Given the description of an element on the screen output the (x, y) to click on. 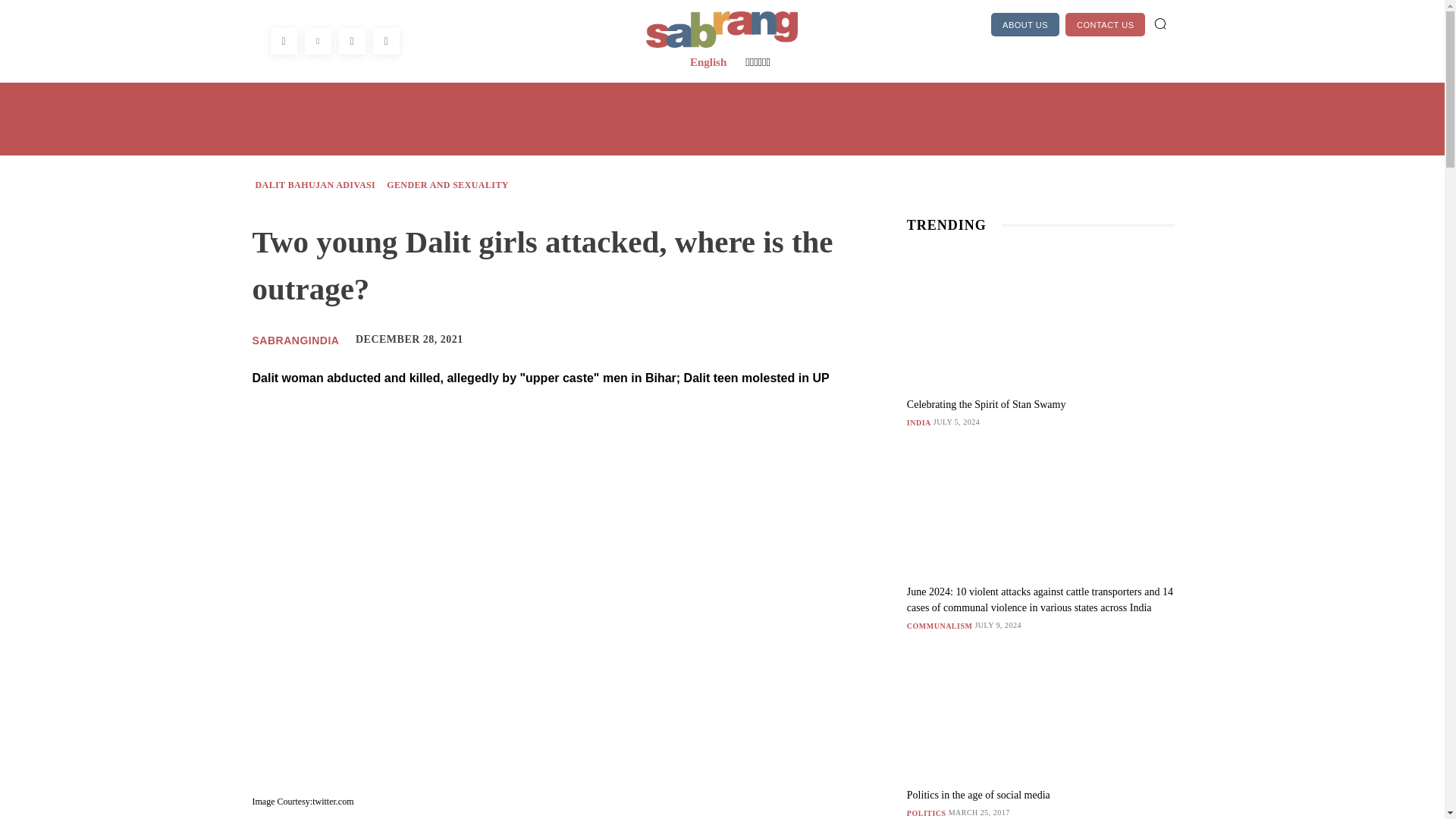
Facebook (283, 40)
WhatsApp (351, 40)
ABOUT US (1025, 24)
Celebrating the Spirit of Stan Swamy (1040, 318)
Celebrating the Spirit of Stan Swamy (986, 404)
CONTACT US (1105, 24)
Youtube (385, 40)
English (708, 61)
Twitter (317, 40)
